Given the description of an element on the screen output the (x, y) to click on. 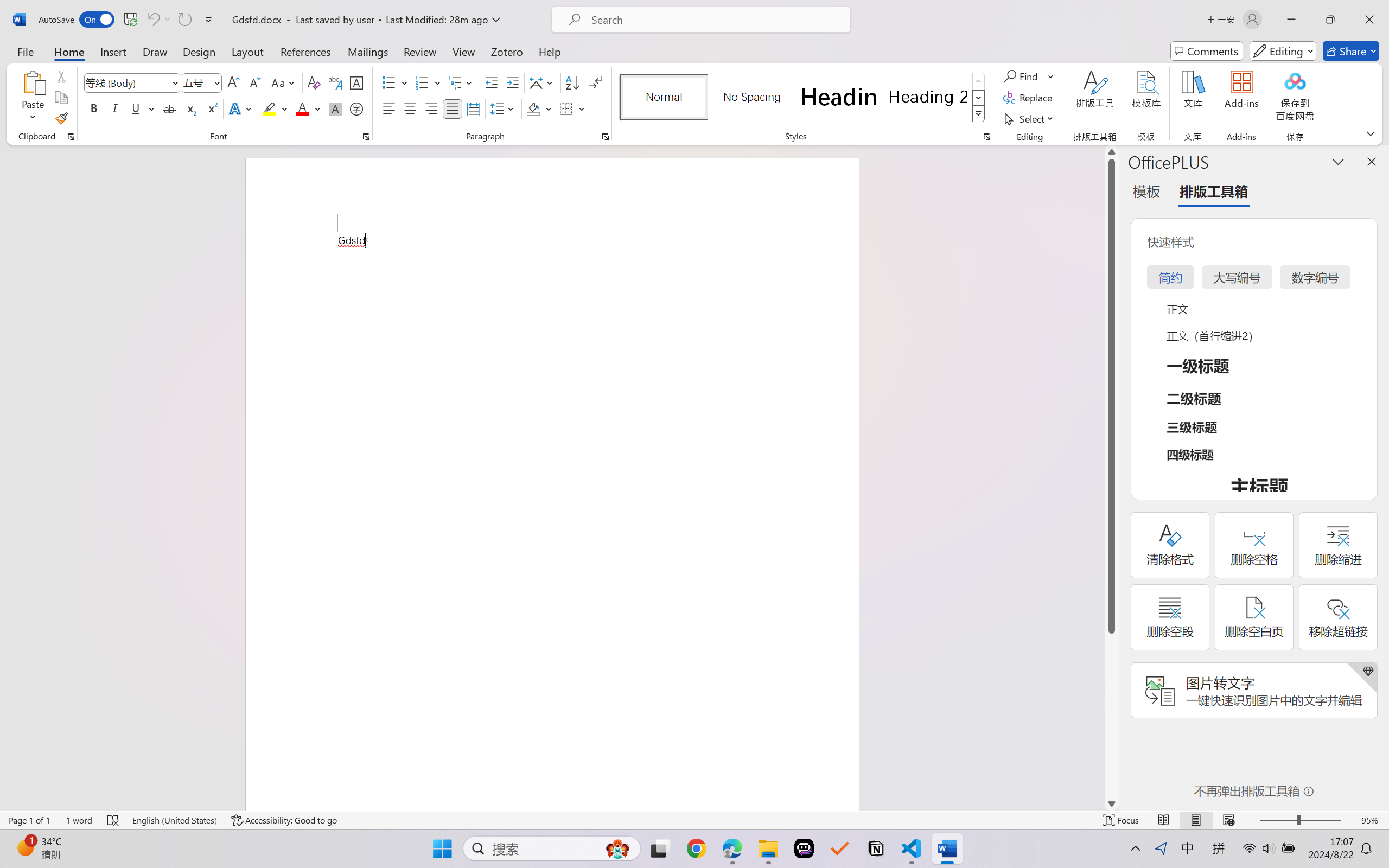
Can't Undo (152, 19)
